Given the description of an element on the screen output the (x, y) to click on. 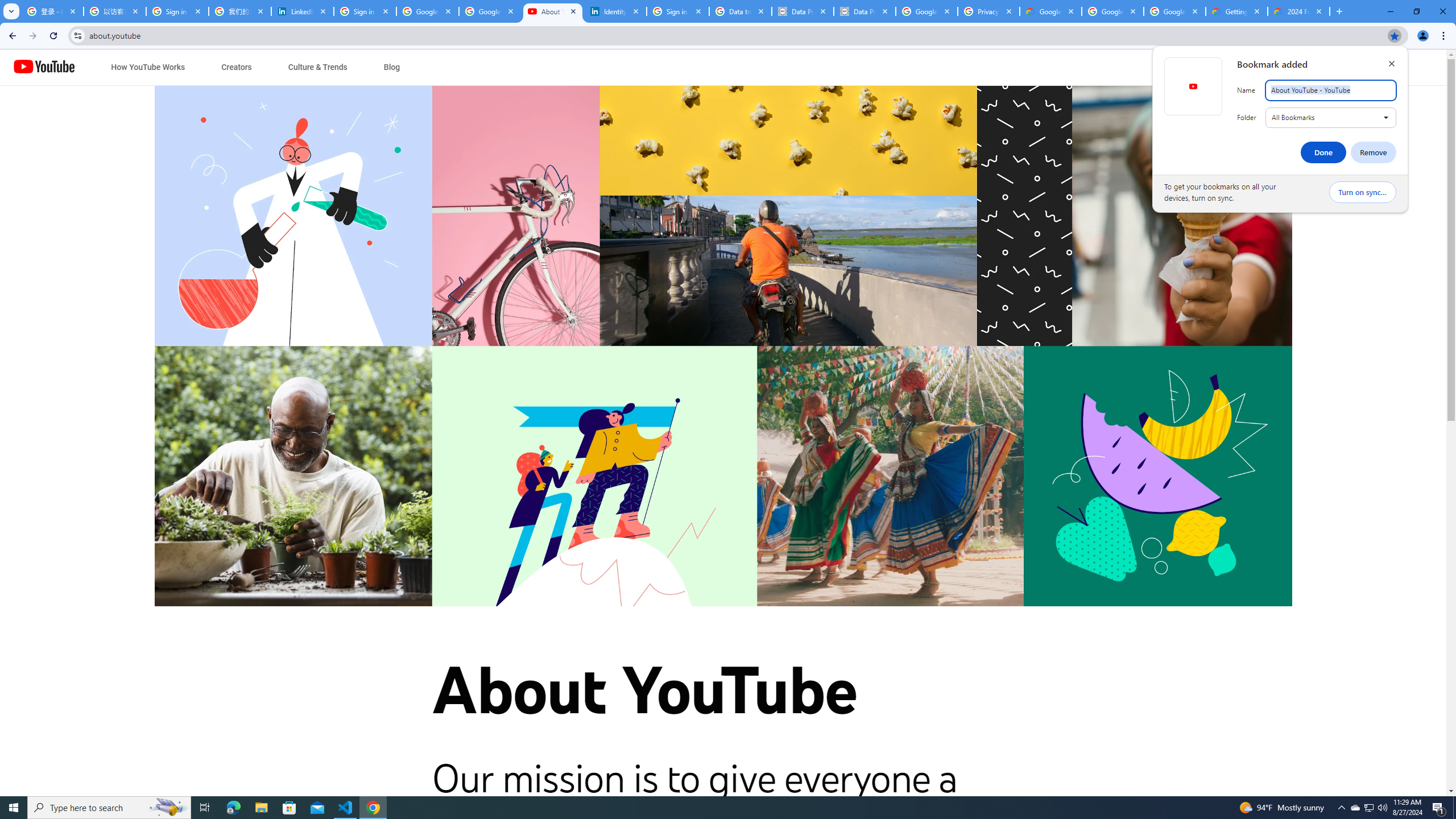
Running applications (717, 807)
Culture & Trends (317, 67)
Search highlights icon opens search home window (167, 807)
File Explorer (261, 807)
Task View (204, 807)
Bookmark name (1330, 90)
Show desktop (1454, 807)
Visual Studio Code - 1 running window (345, 807)
